Given the description of an element on the screen output the (x, y) to click on. 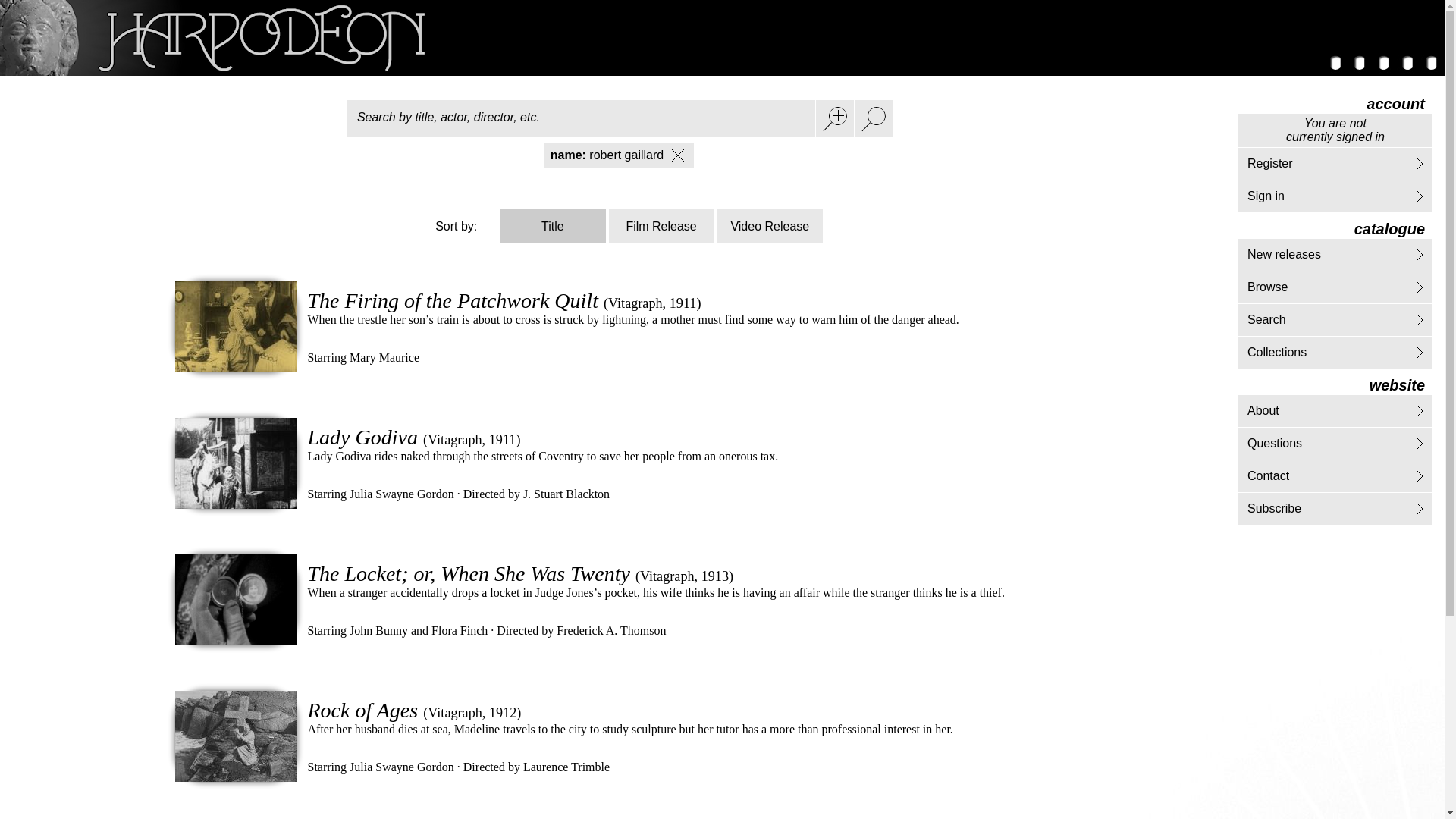
Subscribe (1274, 508)
Browse (1267, 286)
Questions (1274, 442)
Sign in (1265, 195)
Search (1266, 318)
Contact (1267, 475)
Register (1269, 163)
Search by title, actor, director, etc. (579, 117)
New search (872, 118)
About (1263, 410)
Collections (1276, 351)
Search within results (833, 118)
New releases (1283, 254)
